Given the description of an element on the screen output the (x, y) to click on. 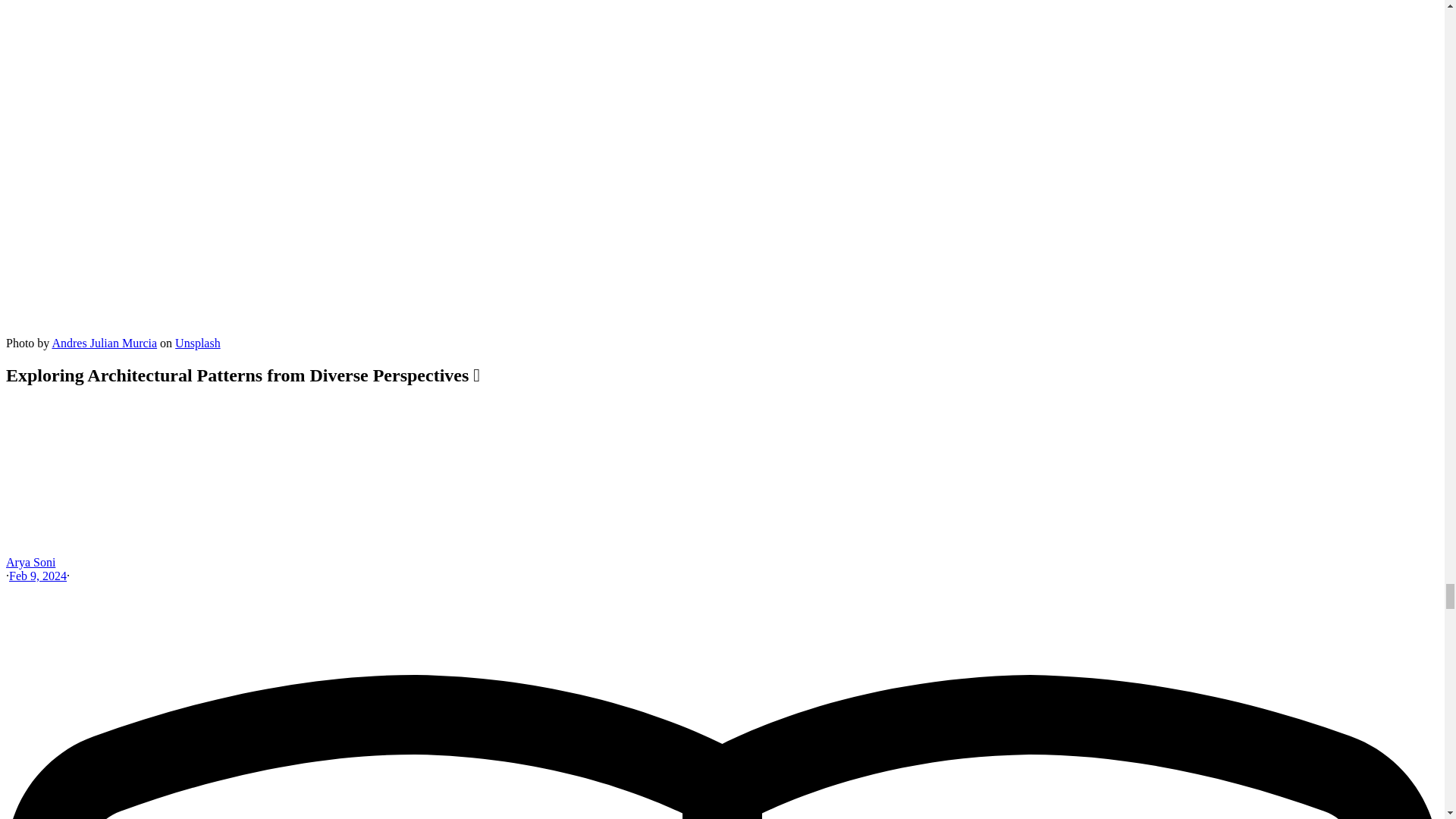
Feb 9, 2024 (37, 575)
Arya Soni (30, 562)
Andres Julian Murcia (103, 342)
Unsplash (197, 342)
